Given the description of an element on the screen output the (x, y) to click on. 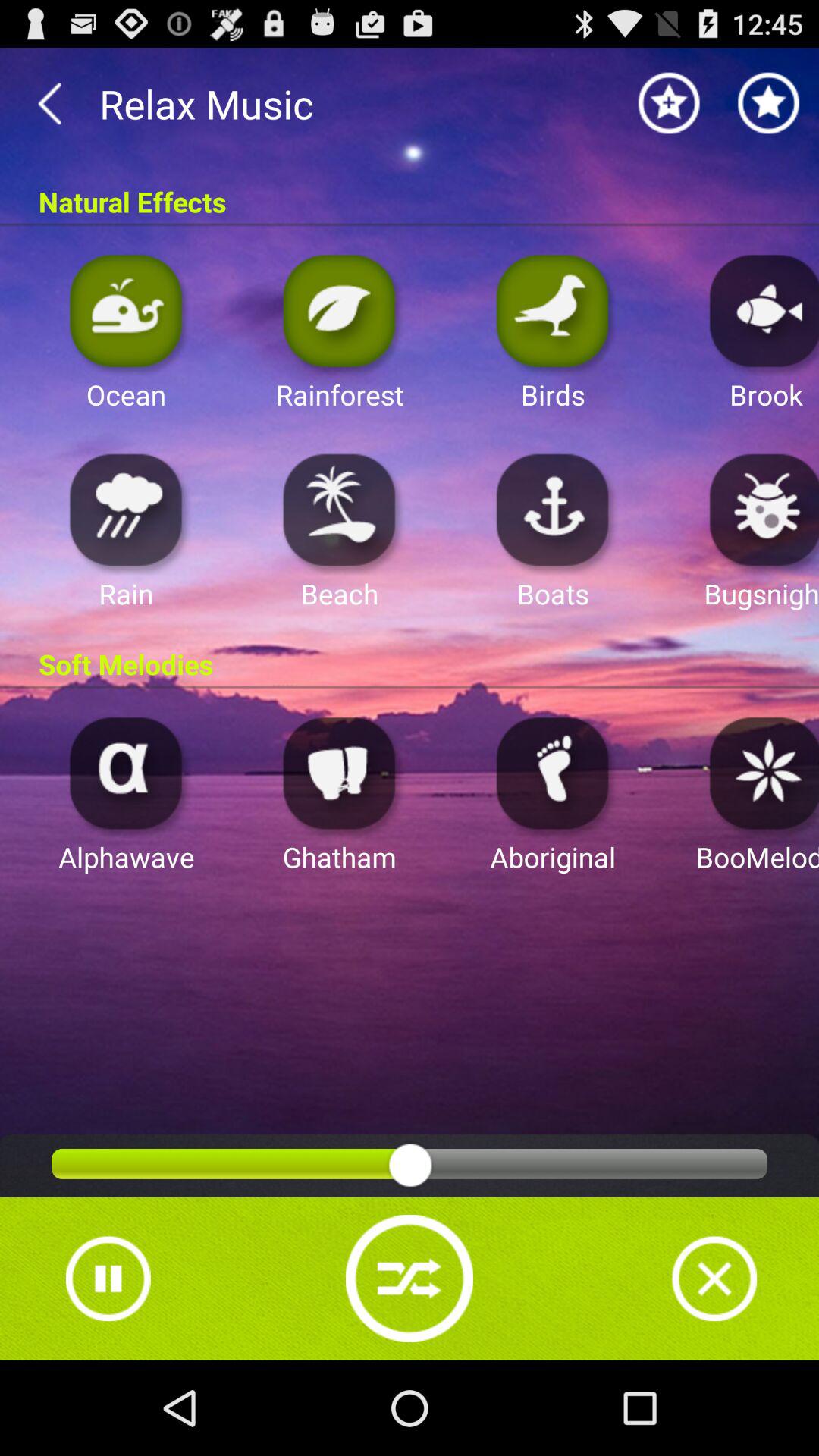
choose sound (759, 509)
